Given the description of an element on the screen output the (x, y) to click on. 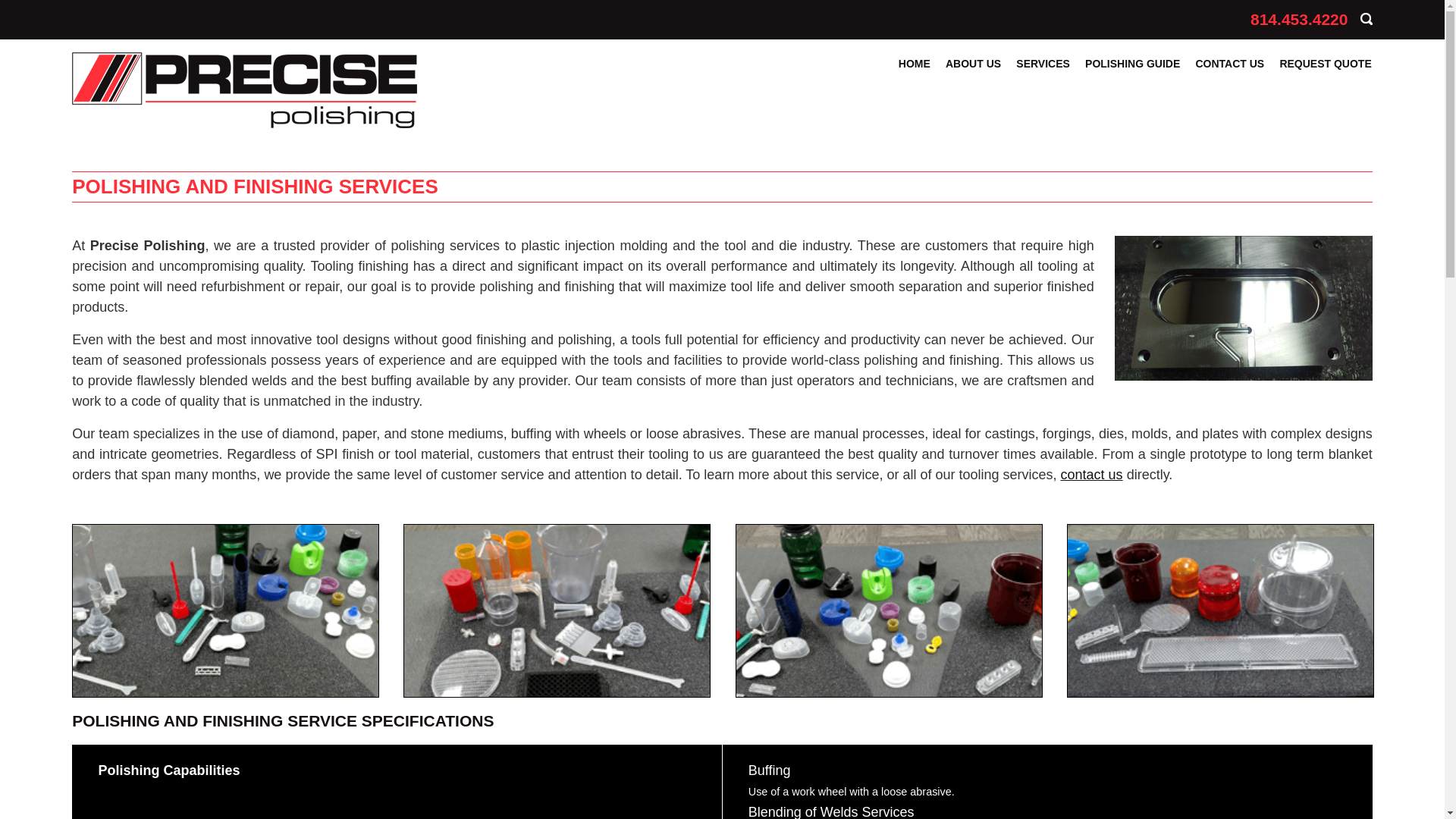
Precise Plastic Parts (556, 610)
814.453.4220 (1299, 18)
About Us (972, 70)
Precise Mold (1244, 307)
CONTACT US (1229, 70)
Precise Plastic Components (224, 610)
Precise Plastic Parts (556, 610)
Polishing Guide (1131, 70)
Request Quote (1325, 70)
SERVICES (1043, 70)
Services (1043, 70)
contact us (1091, 474)
Contact Us (1229, 70)
Email (1229, 19)
